Given the description of an element on the screen output the (x, y) to click on. 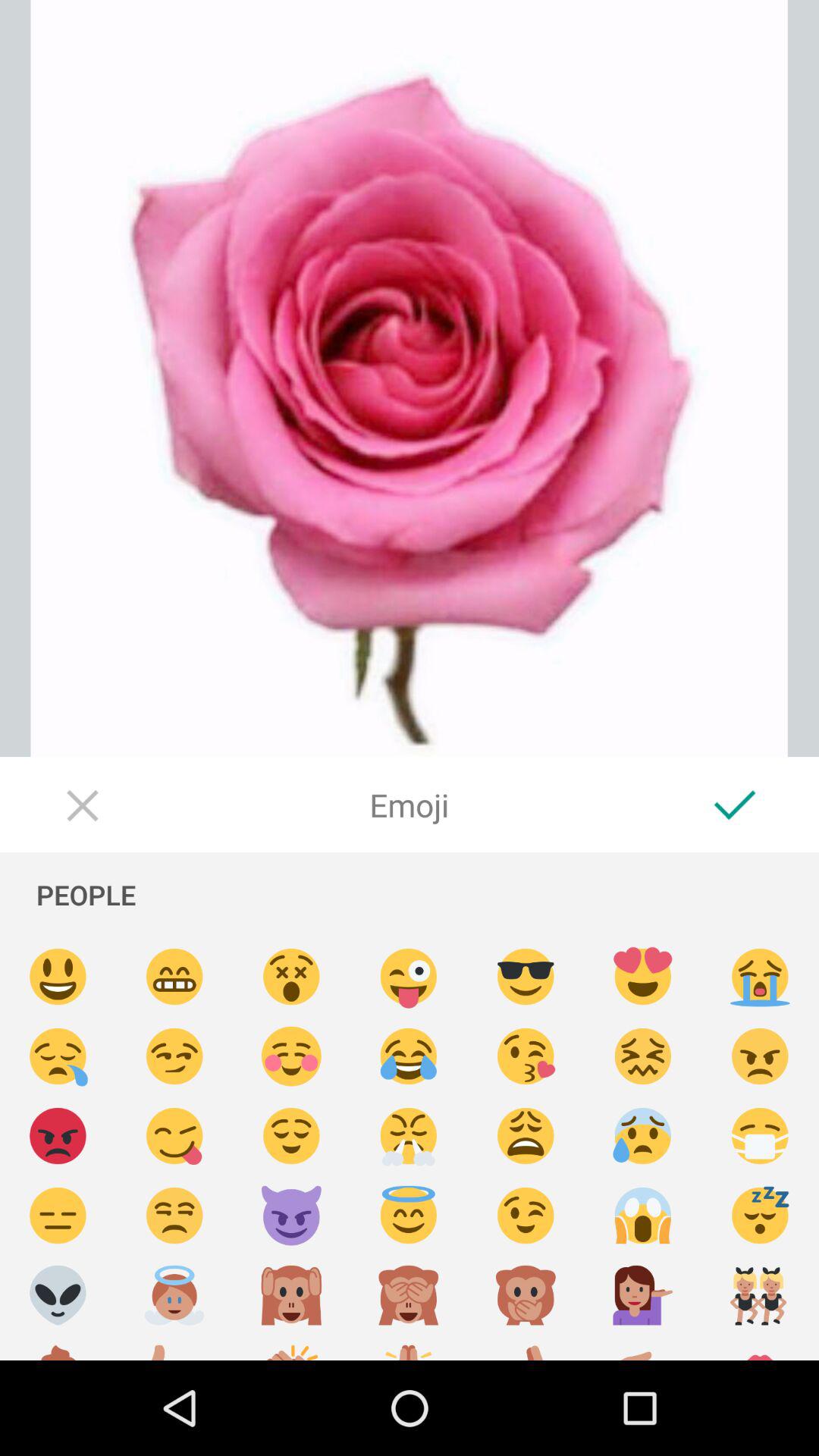
hand raise girl emoji (642, 1295)
